Given the description of an element on the screen output the (x, y) to click on. 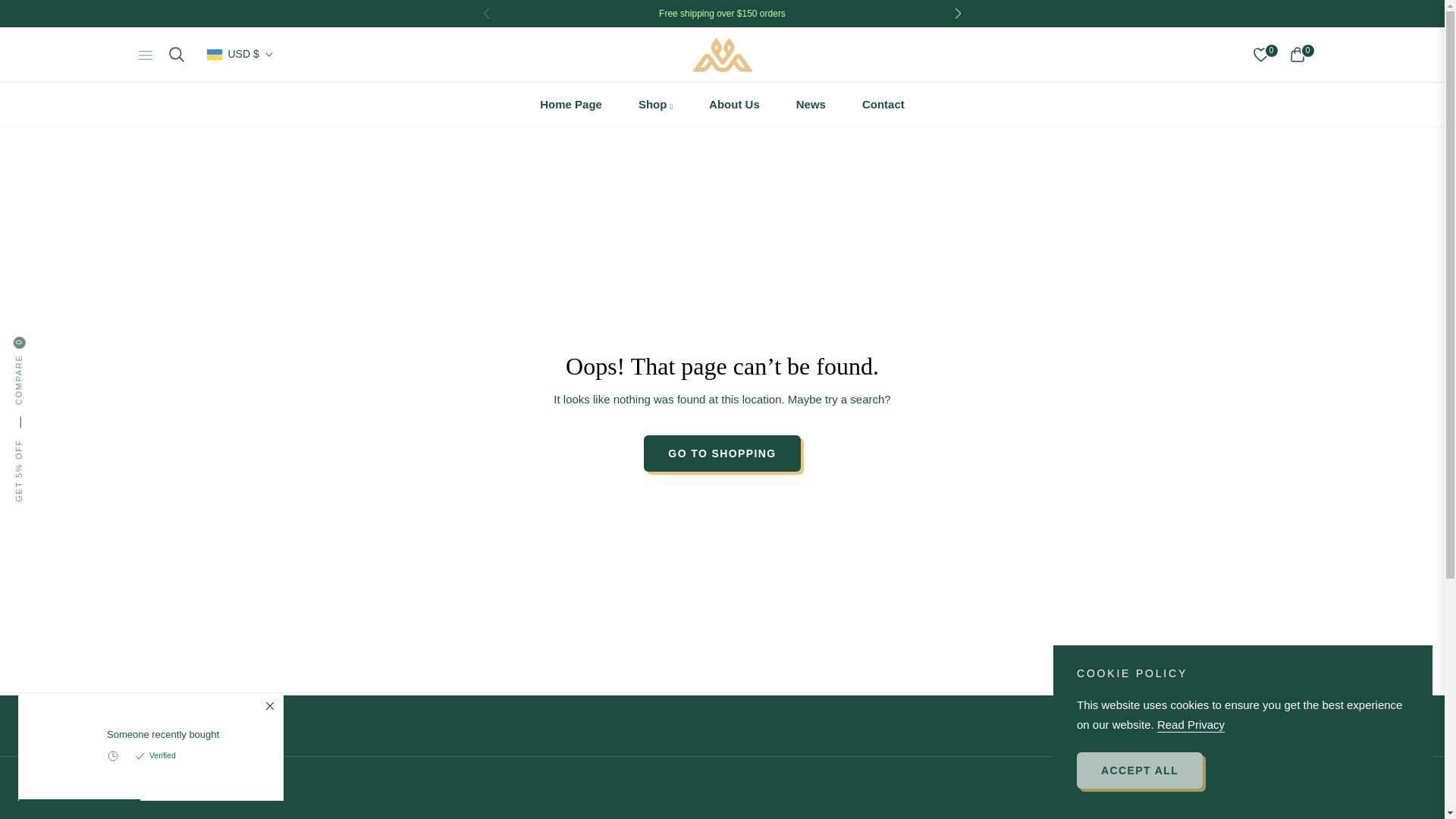
Contact (883, 104)
Read Privacy (1190, 723)
Compare (49, 341)
Home Page (570, 104)
Your Cart (1296, 54)
News (810, 104)
About Us (733, 104)
Shop (655, 104)
Close (269, 706)
